Given the description of an element on the screen output the (x, y) to click on. 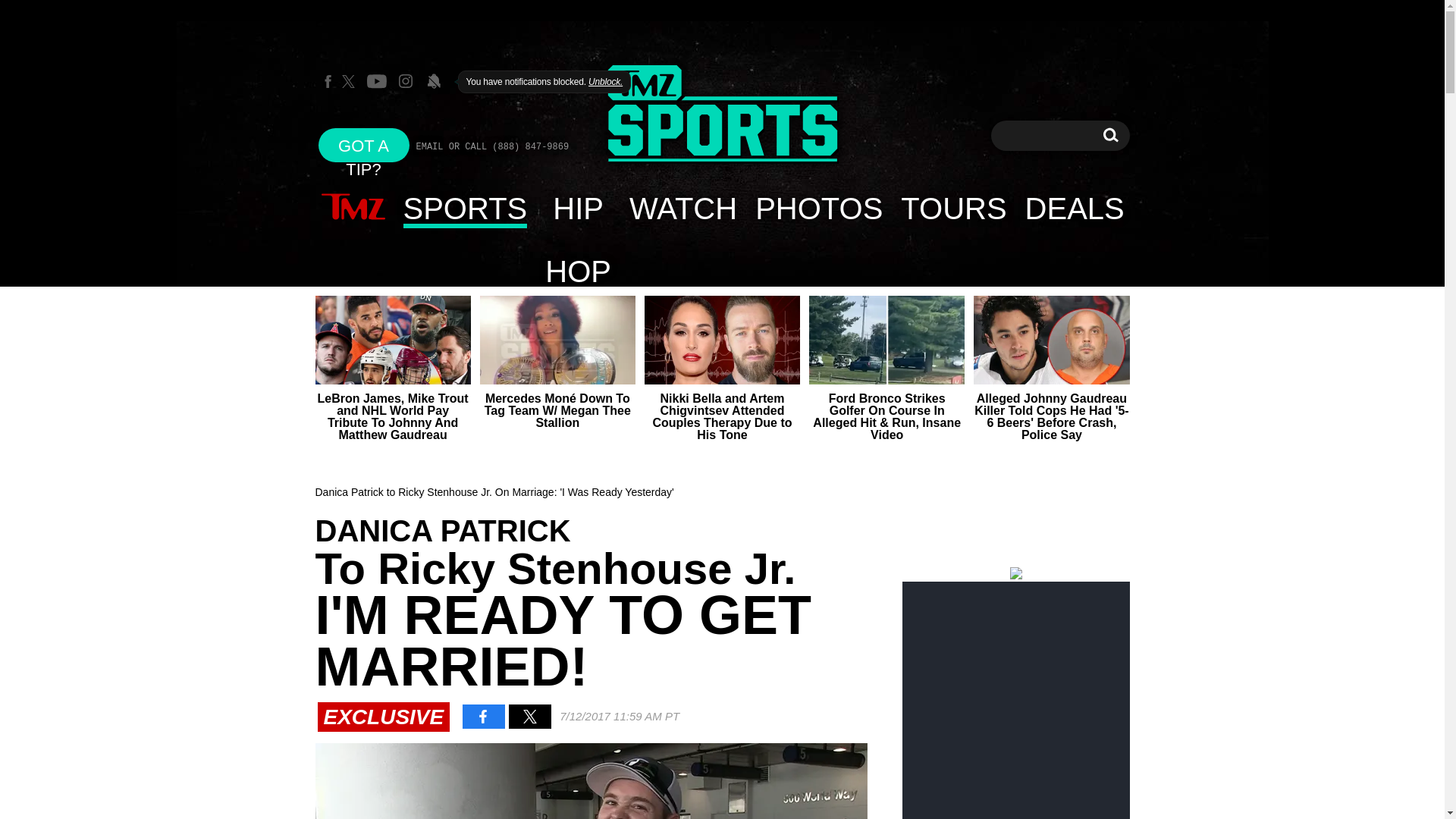
PHOTOS (818, 207)
TMZ Sports (722, 115)
Skip to main content (1110, 135)
Search (353, 207)
WATCH (1110, 134)
GOT A TIP? (682, 207)
TOURS (363, 144)
TMZ Sports (952, 207)
